Given the description of an element on the screen output the (x, y) to click on. 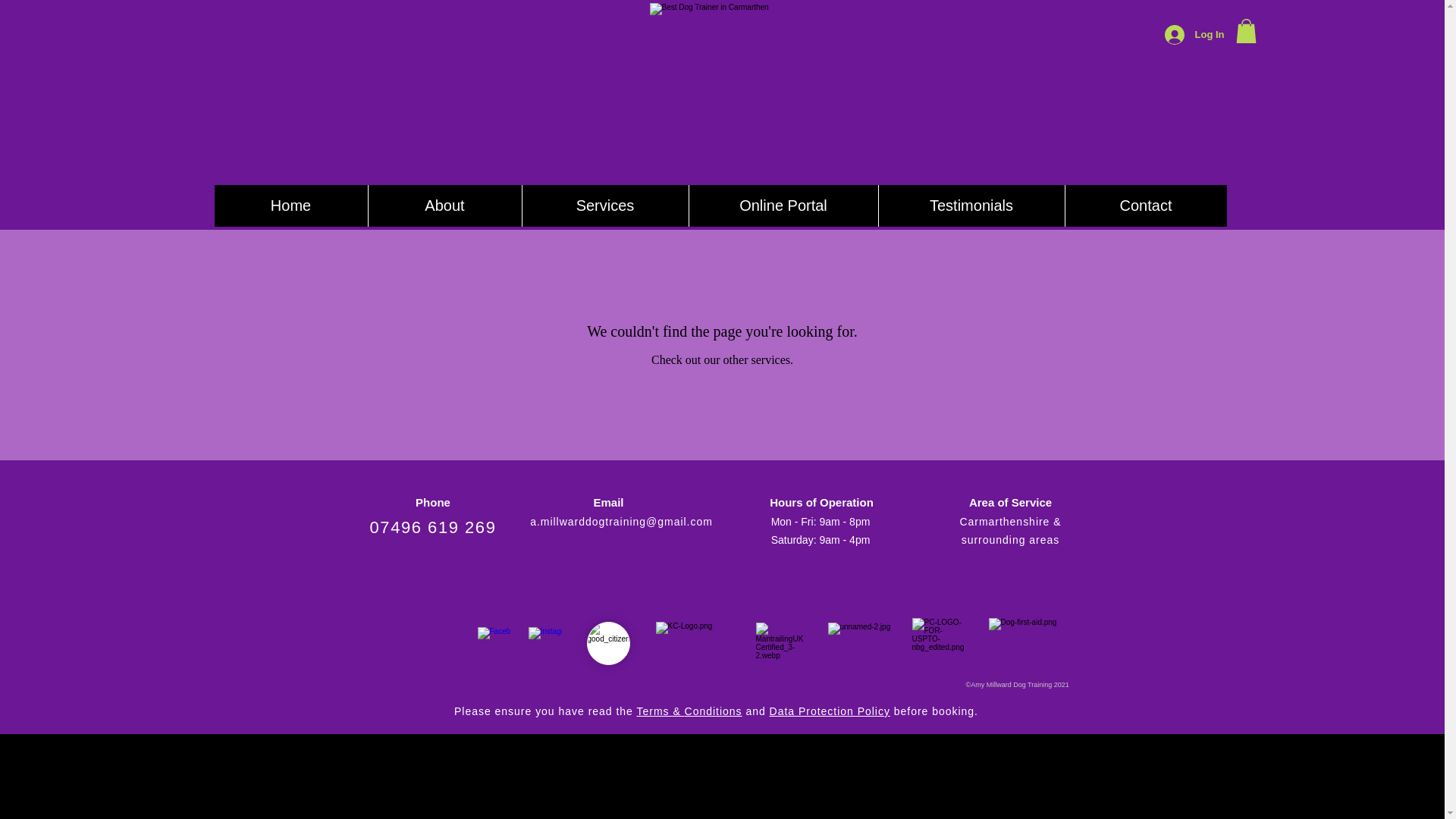
Testimonials (970, 205)
Contact (1145, 205)
Data Protection Policy (829, 711)
Log In (1194, 34)
About (443, 205)
07496 619 269 (432, 527)
Online Portal (782, 205)
Home (290, 205)
Services (604, 205)
